Given the description of an element on the screen output the (x, y) to click on. 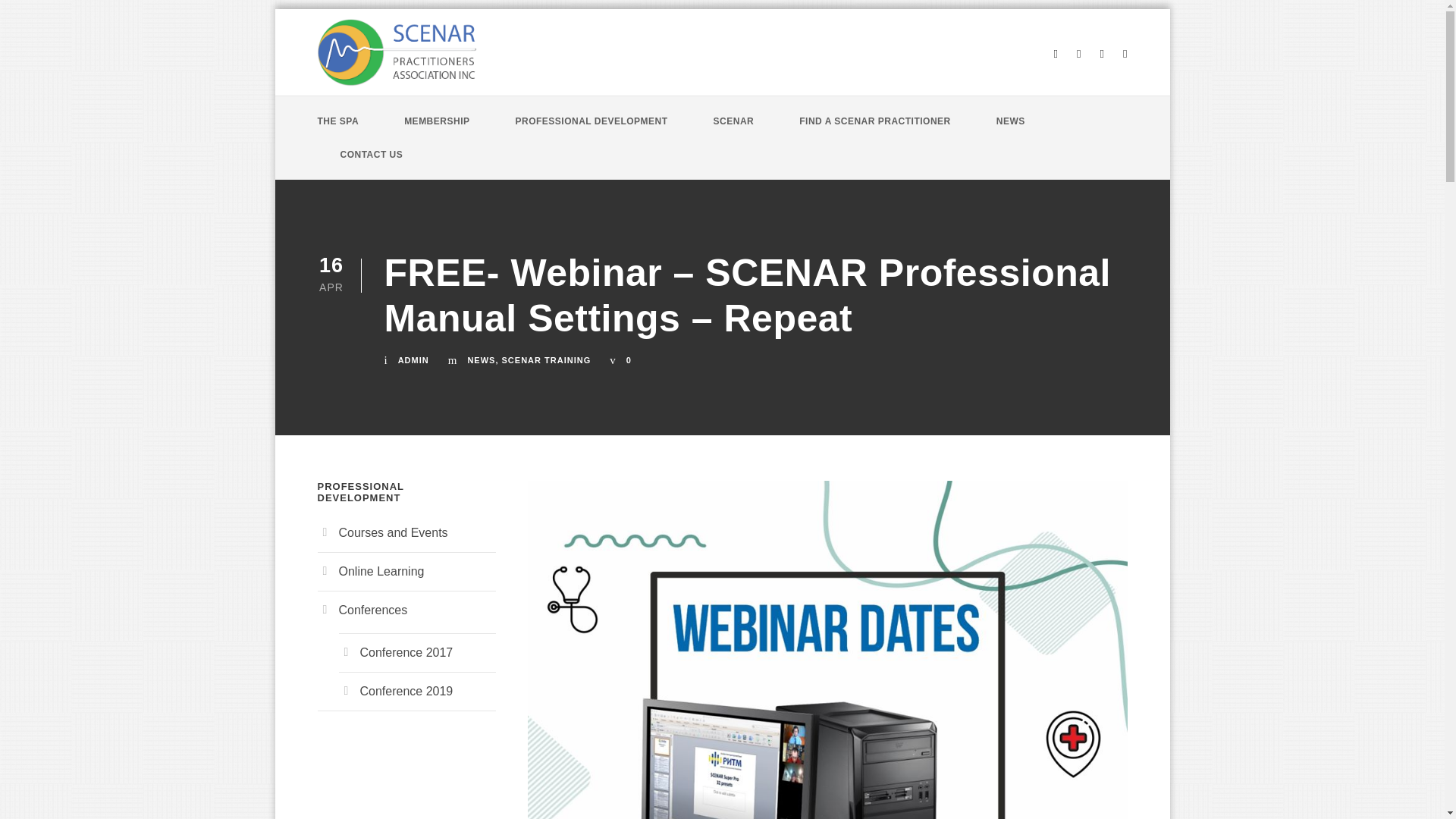
MEMBERSHIP (436, 129)
THE SPA (337, 129)
Posts by admin (413, 359)
